Given the description of an element on the screen output the (x, y) to click on. 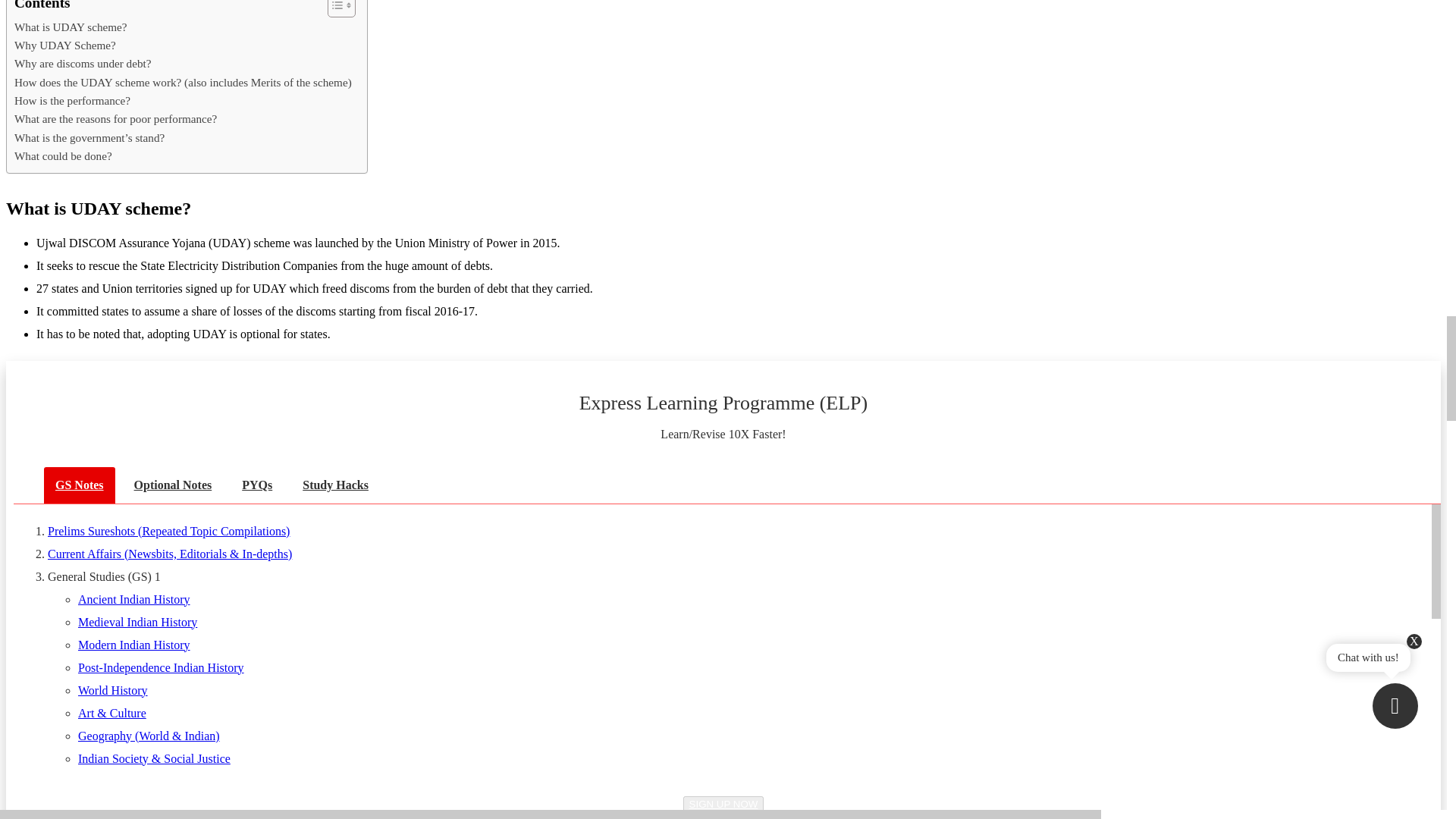
Why UDAY Scheme? (65, 45)
What are the reasons for poor performance? (115, 118)
What could be done? (63, 156)
Why are discoms under debt? (82, 63)
How is the performance? (72, 100)
What is UDAY scheme? (71, 27)
